Given the description of an element on the screen output the (x, y) to click on. 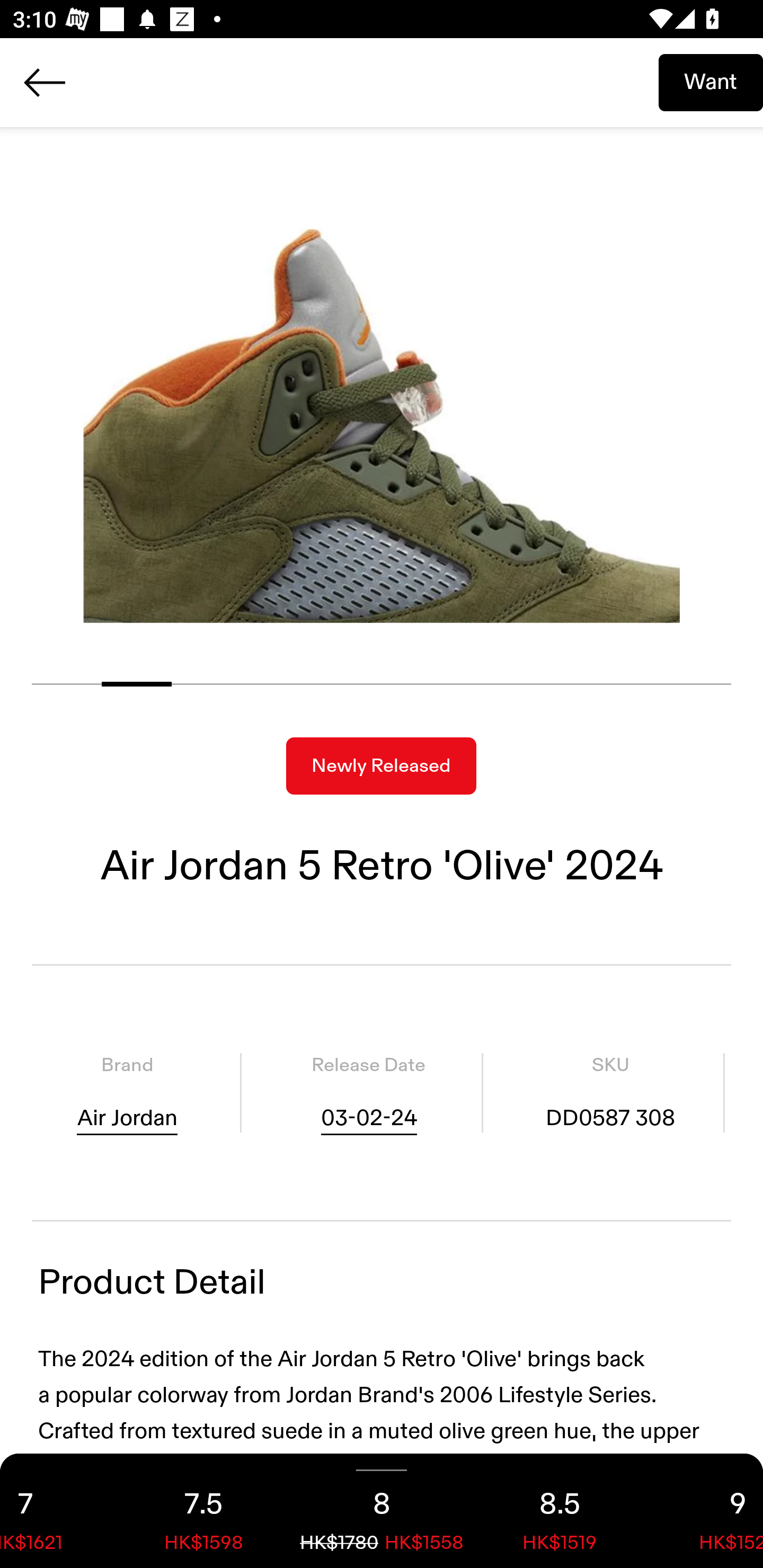
Want (710, 82)
Newly Released (381, 765)
Brand Air Jordan (126, 1092)
Release Date 03-02-24 (368, 1092)
SKU DD0587 308 (609, 1092)
7 HK$1621 (57, 1510)
7.5 HK$1598 (203, 1510)
8 HK$1780 HK$1558 (381, 1510)
8.5 HK$1519 (559, 1510)
9 HK$1527 (705, 1510)
